Given the description of an element on the screen output the (x, y) to click on. 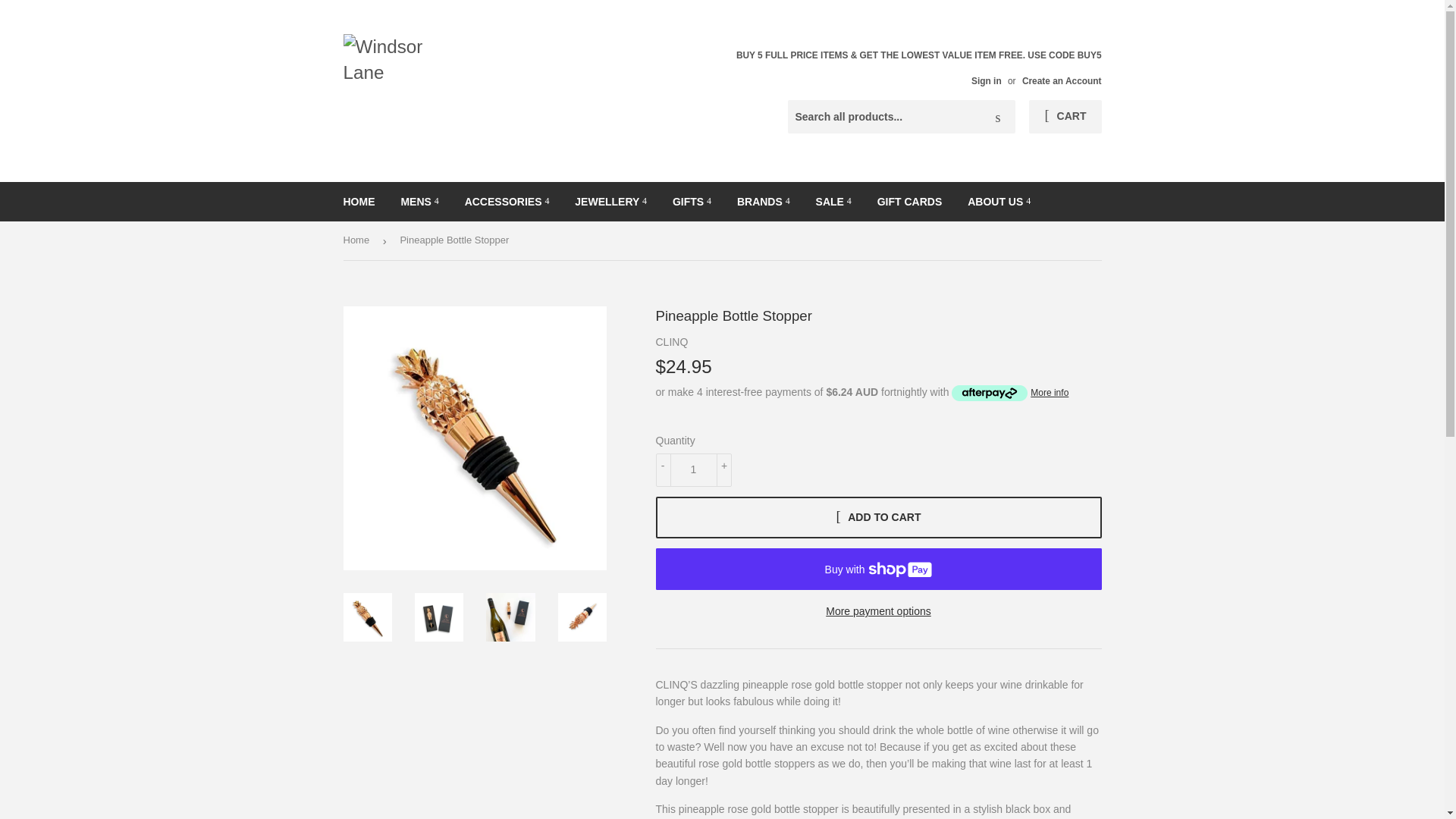
Search (997, 117)
Sign in (986, 81)
1 (692, 469)
Create an Account (1062, 81)
CART (1064, 116)
Back to the frontpage (358, 240)
